Given the description of an element on the screen output the (x, y) to click on. 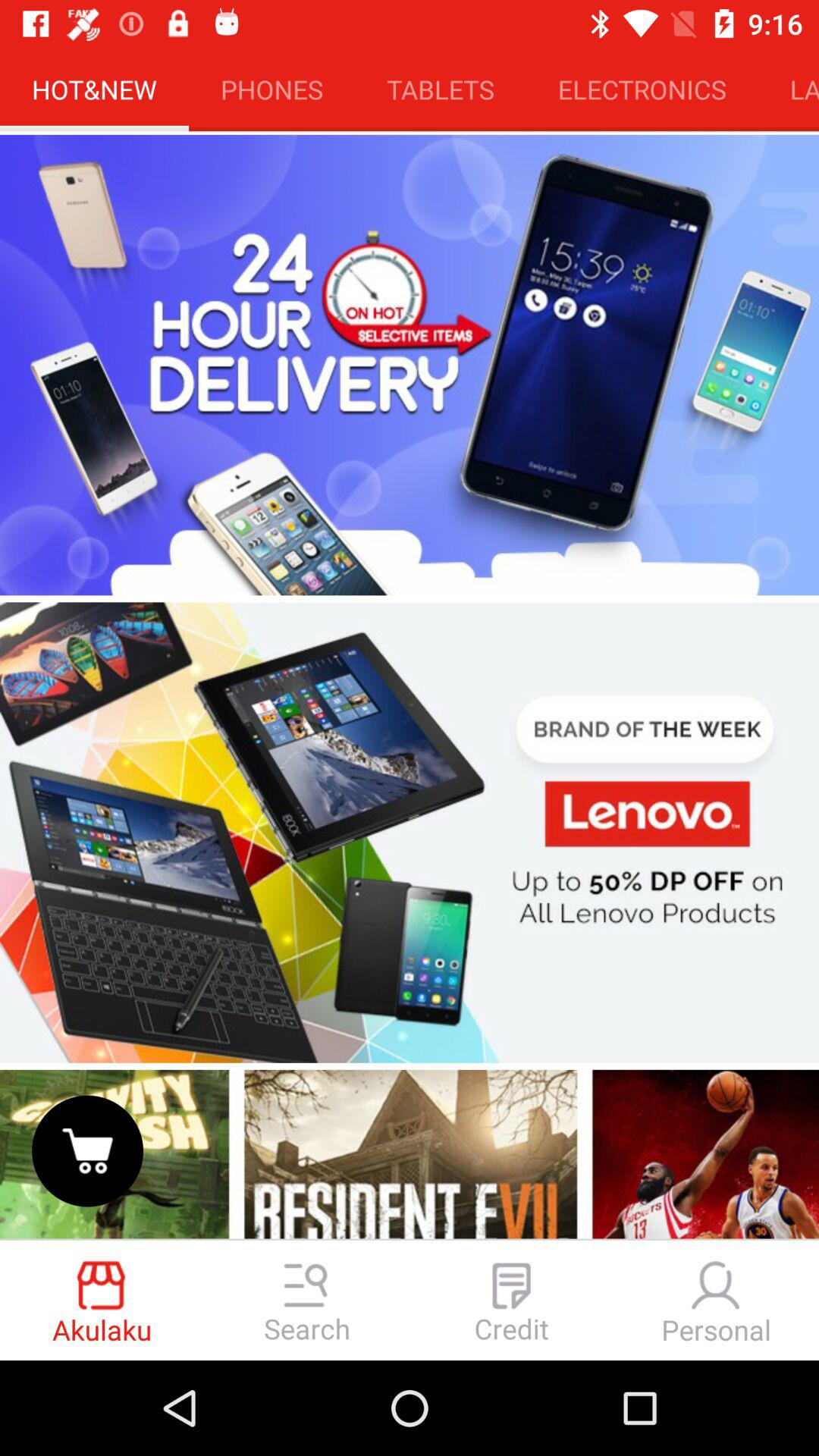
shows pictures (409, 1152)
